Given the description of an element on the screen output the (x, y) to click on. 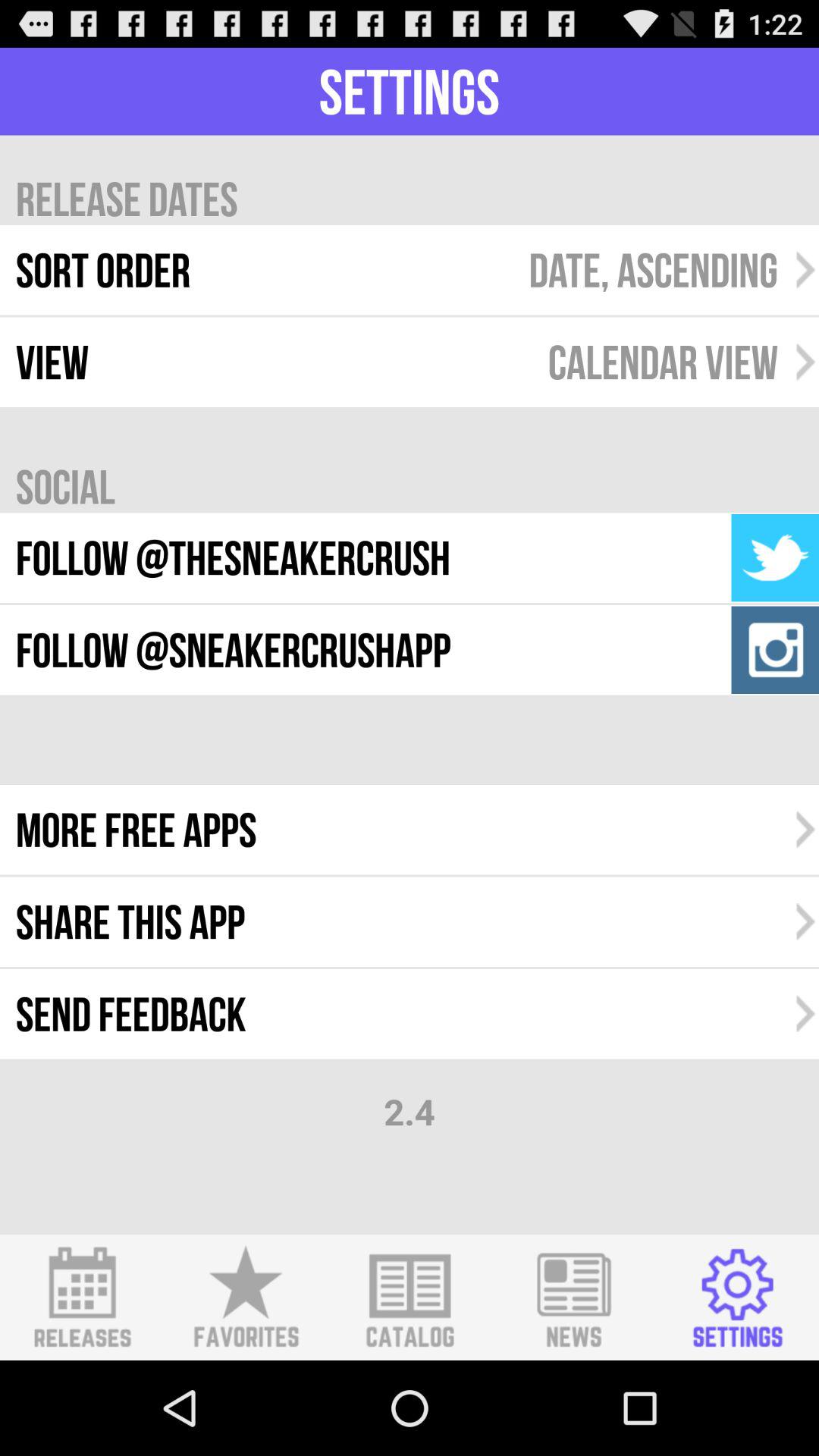
favorites (245, 1297)
